Given the description of an element on the screen output the (x, y) to click on. 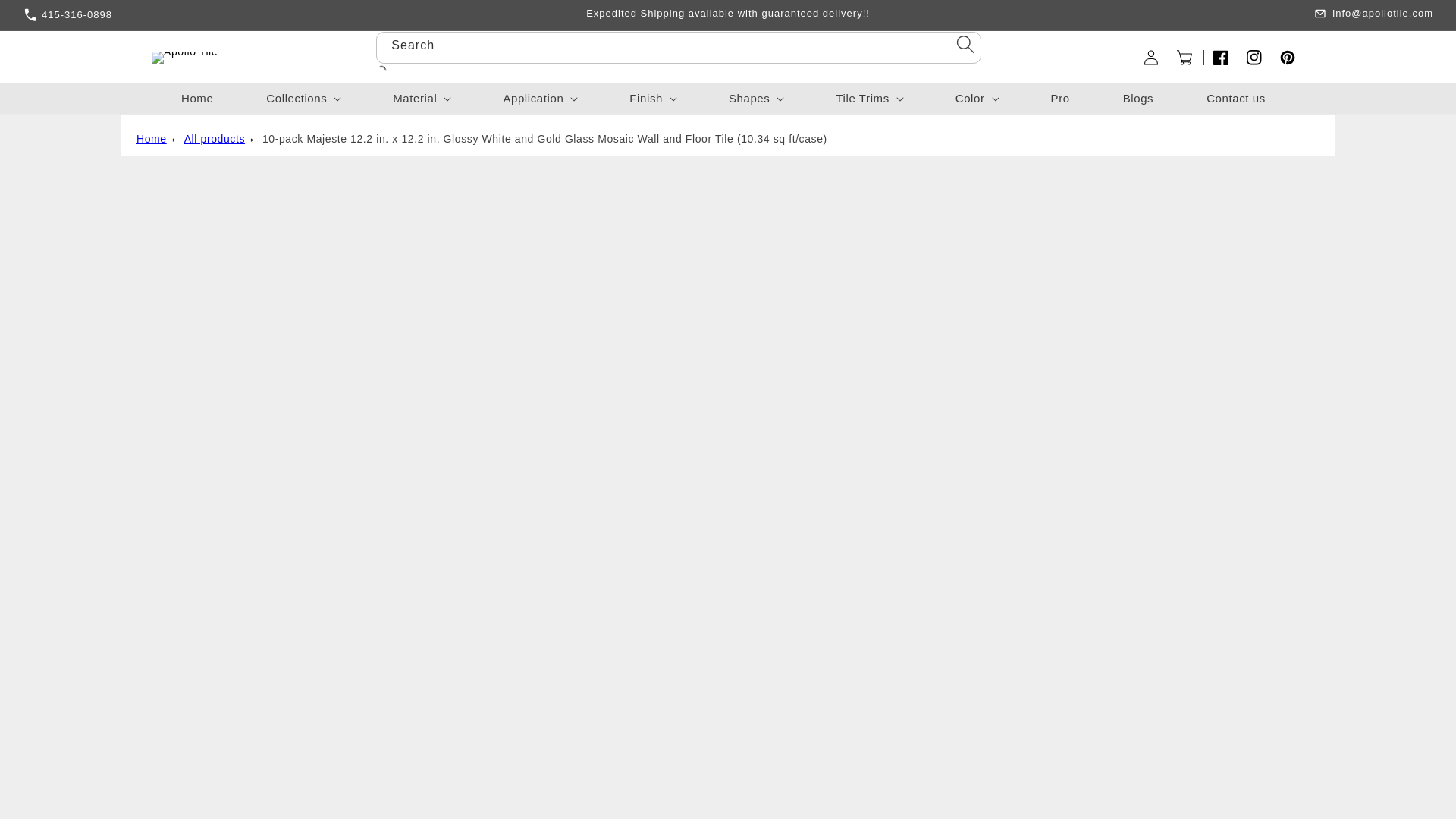
Skip To Content (79, 17)
415-316-0898 (181, 14)
